Given the description of an element on the screen output the (x, y) to click on. 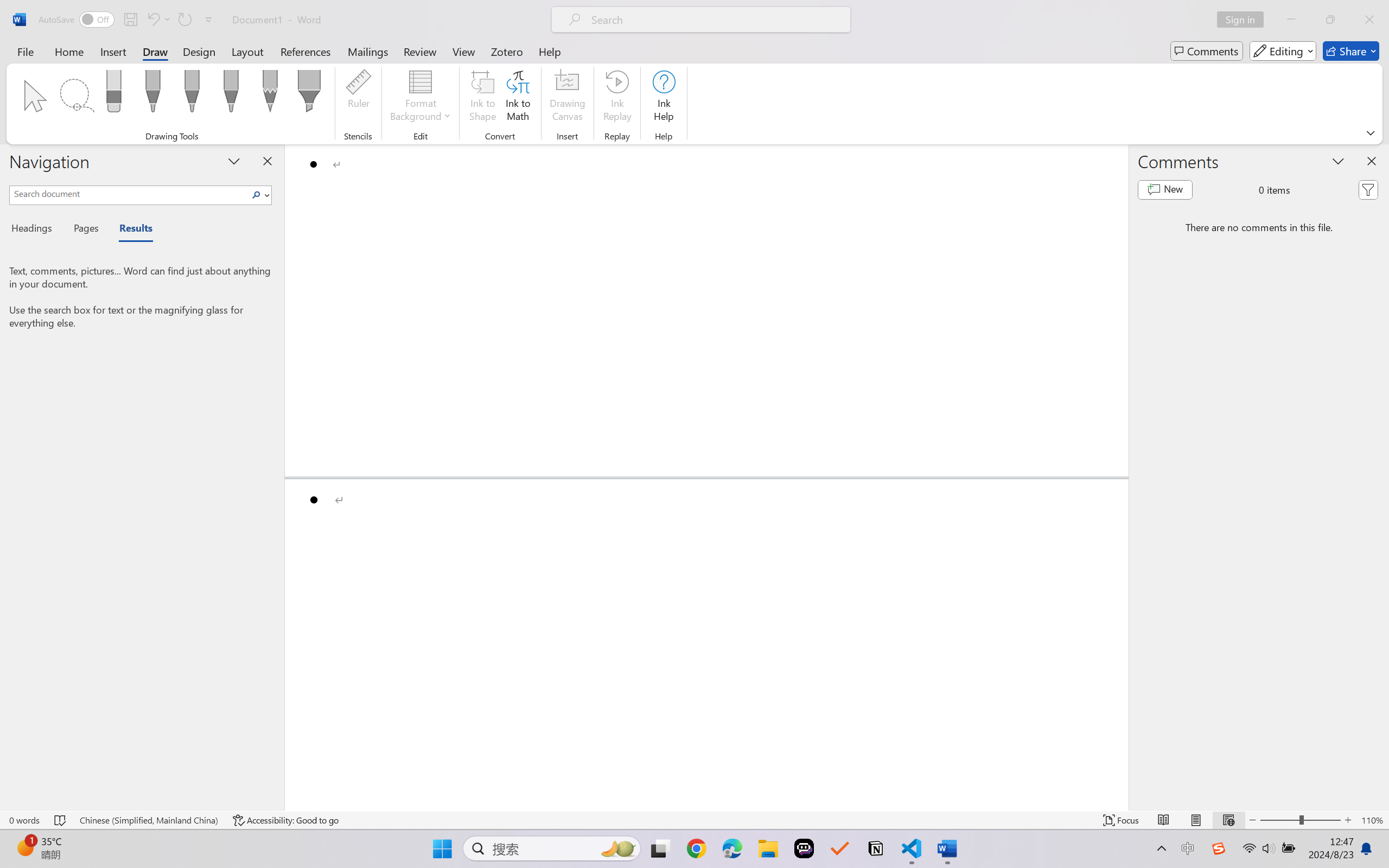
Ruler (358, 97)
Pages (85, 229)
